Given the description of an element on the screen output the (x, y) to click on. 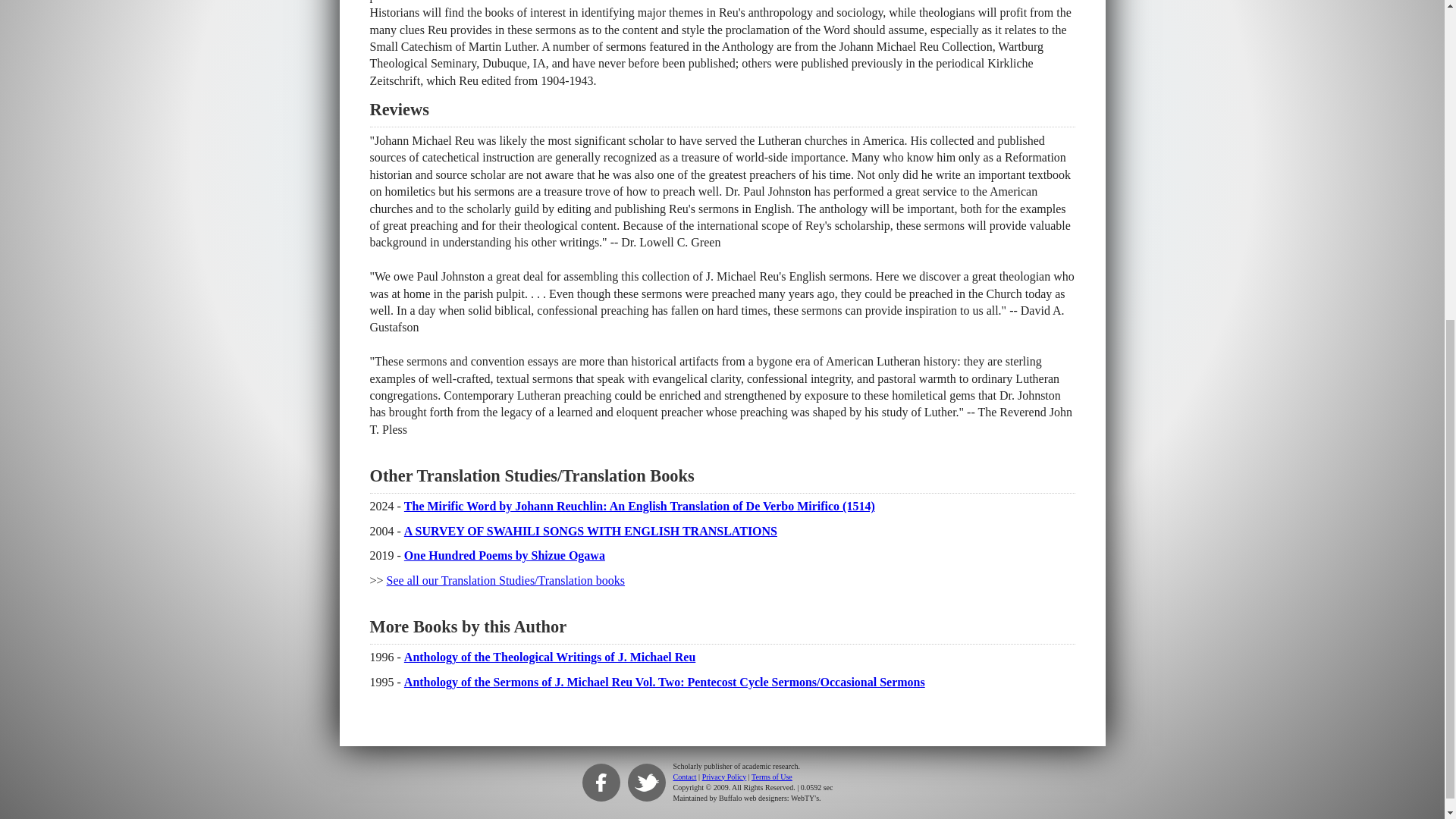
Contact (684, 777)
A SURVEY OF SWAHILI SONGS WITH ENGLISH TRANSLATIONS (590, 530)
Buffalo web designers: WebTY's (768, 797)
One Hundred Poems by Shizue Ogawa (504, 554)
Anthology of the Theological Writings of J. Michael Reu (549, 656)
Privacy Policy (723, 777)
Terms of Use (771, 777)
